Given the description of an element on the screen output the (x, y) to click on. 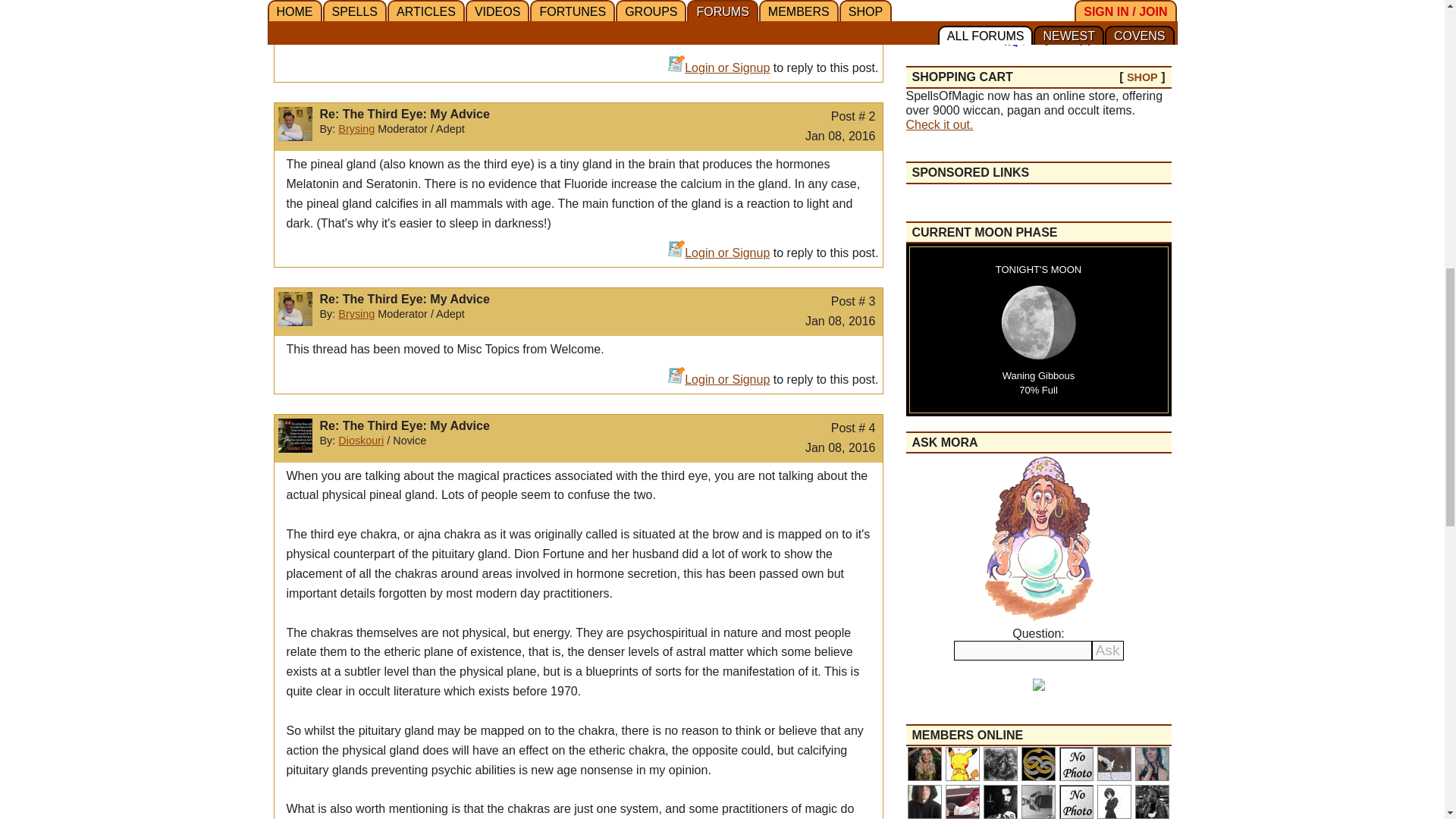
Ask (1108, 650)
